Given the description of an element on the screen output the (x, y) to click on. 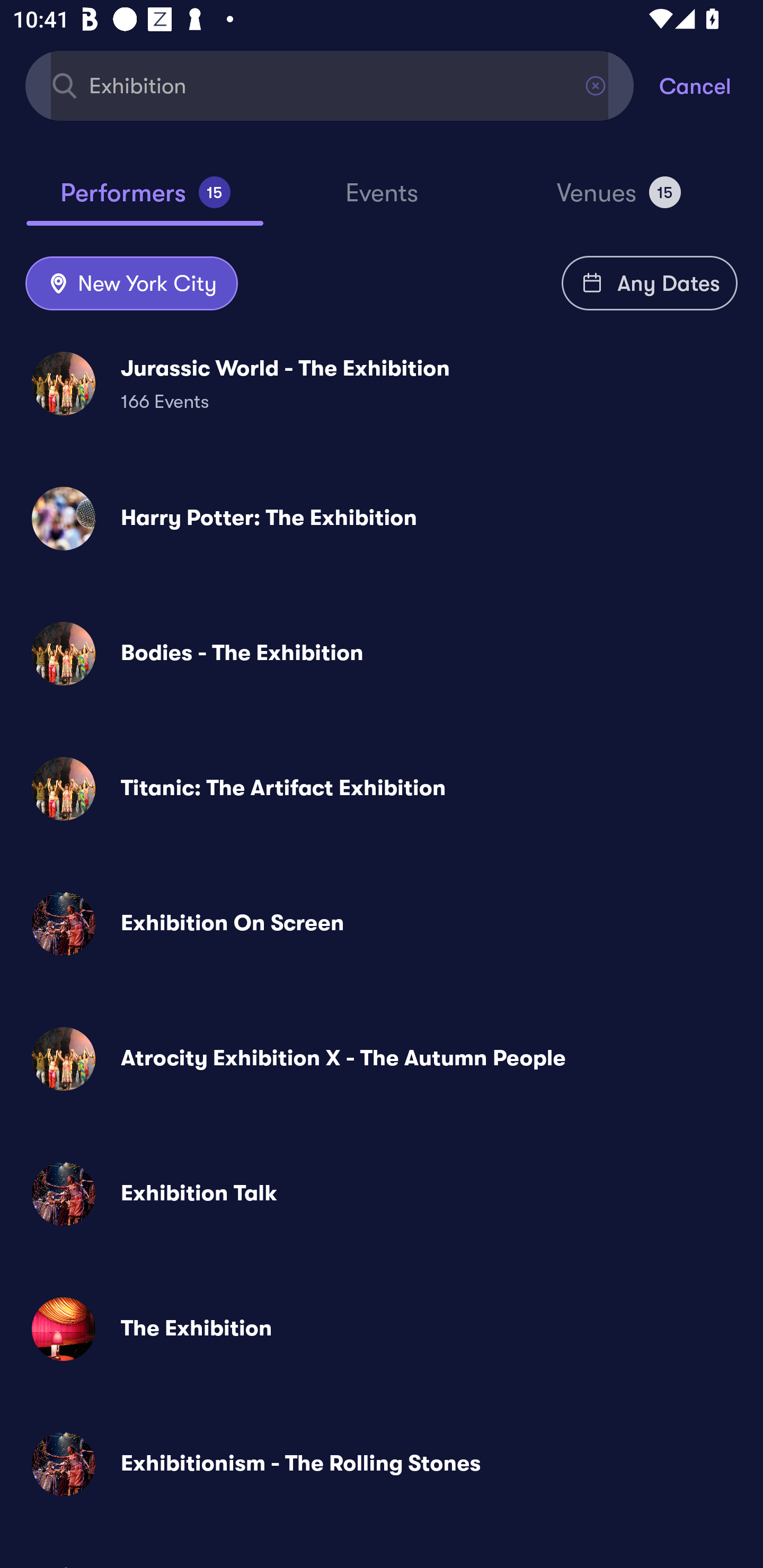
Exhibition Find (329, 85)
Exhibition Find (329, 85)
Cancel (711, 85)
Performers 15 (144, 200)
Venues 15 (618, 200)
Events (381, 201)
Any Dates (649, 282)
New York City (131, 283)
Jurassic World - The Exhibition 166 Events (381, 383)
Harry Potter: The Exhibition (381, 518)
Bodies - The Exhibition (381, 652)
Titanic: The Artifact Exhibition (381, 788)
Exhibition On Screen (381, 924)
Atrocity Exhibition X - The Autumn People (381, 1059)
Exhibition Talk (381, 1193)
The Exhibition (381, 1328)
Exhibitionism - The Rolling Stones (381, 1463)
